Given the description of an element on the screen output the (x, y) to click on. 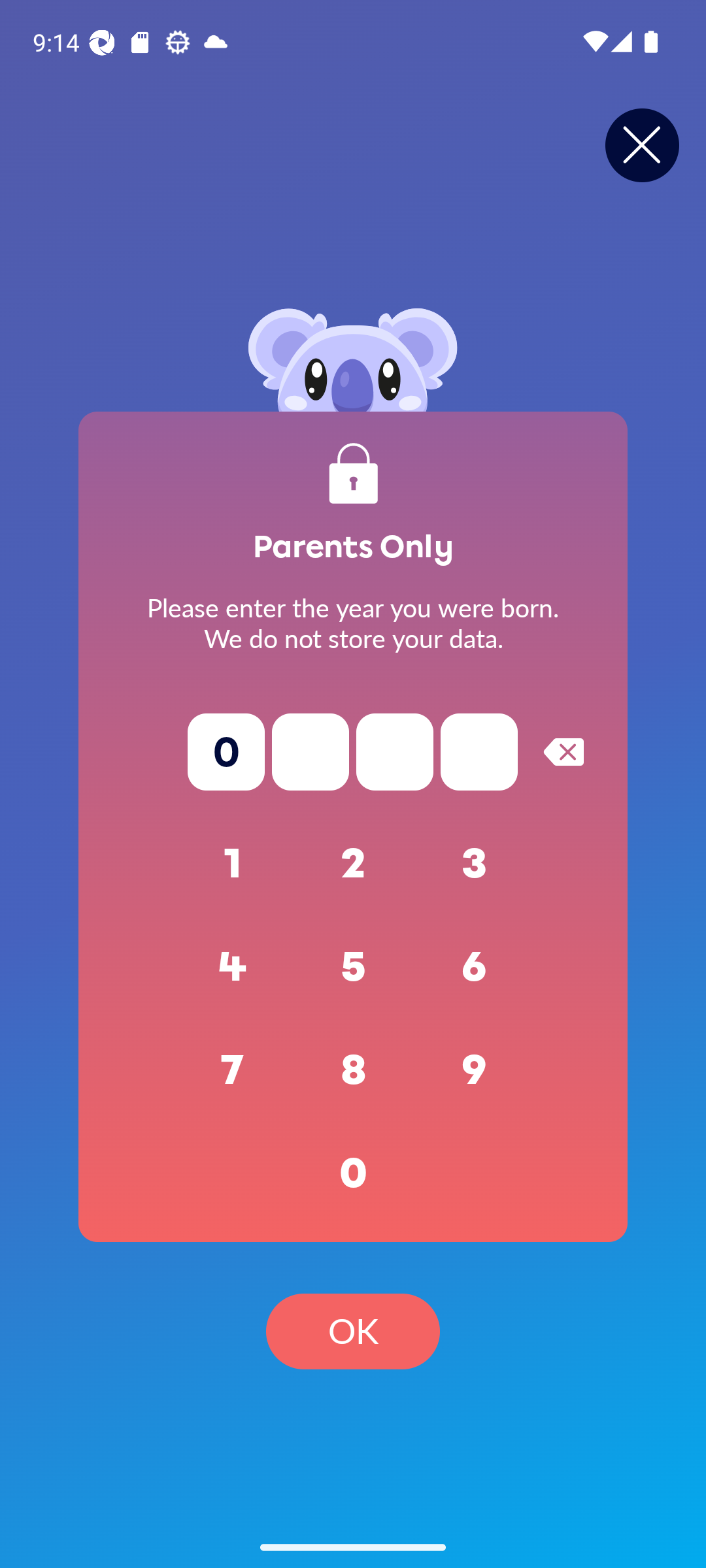
Delete (563, 751)
1 (232, 863)
2 (353, 863)
3 (474, 863)
4 (232, 966)
5 (353, 966)
6 (474, 966)
7 (232, 1069)
8 (353, 1069)
9 (474, 1069)
0 (353, 1173)
OK (352, 1331)
